Given the description of an element on the screen output the (x, y) to click on. 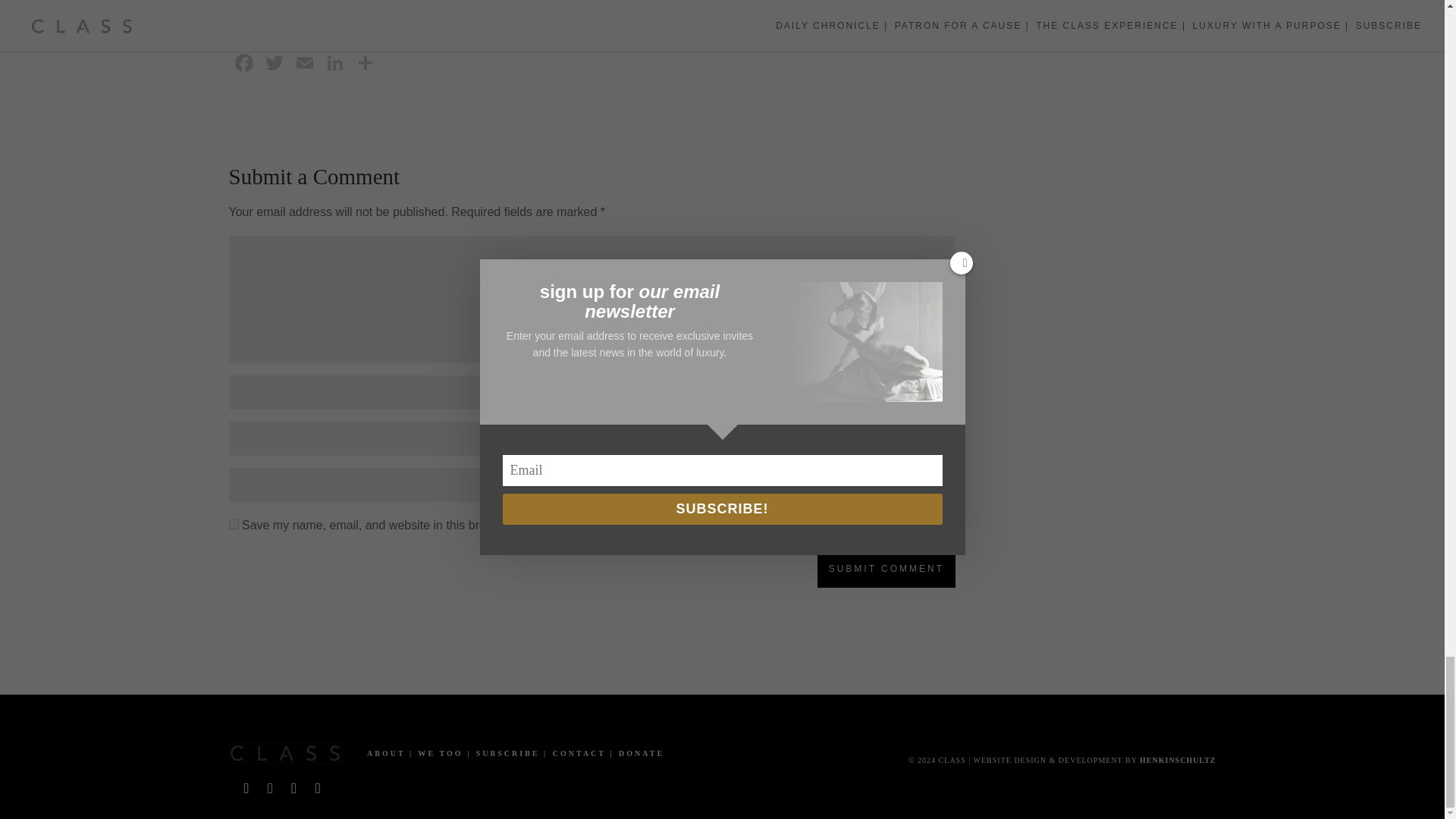
yes (233, 524)
LinkedIn (335, 64)
Email (304, 64)
Submit Comment (885, 568)
Submit Comment (885, 568)
Facebook (243, 64)
Twitter (274, 64)
Facebook (243, 64)
Email (304, 64)
LinkedIn (335, 64)
Twitter (274, 64)
HenkinSchultz Creative Services (1177, 759)
Share (365, 64)
